Given the description of an element on the screen output the (x, y) to click on. 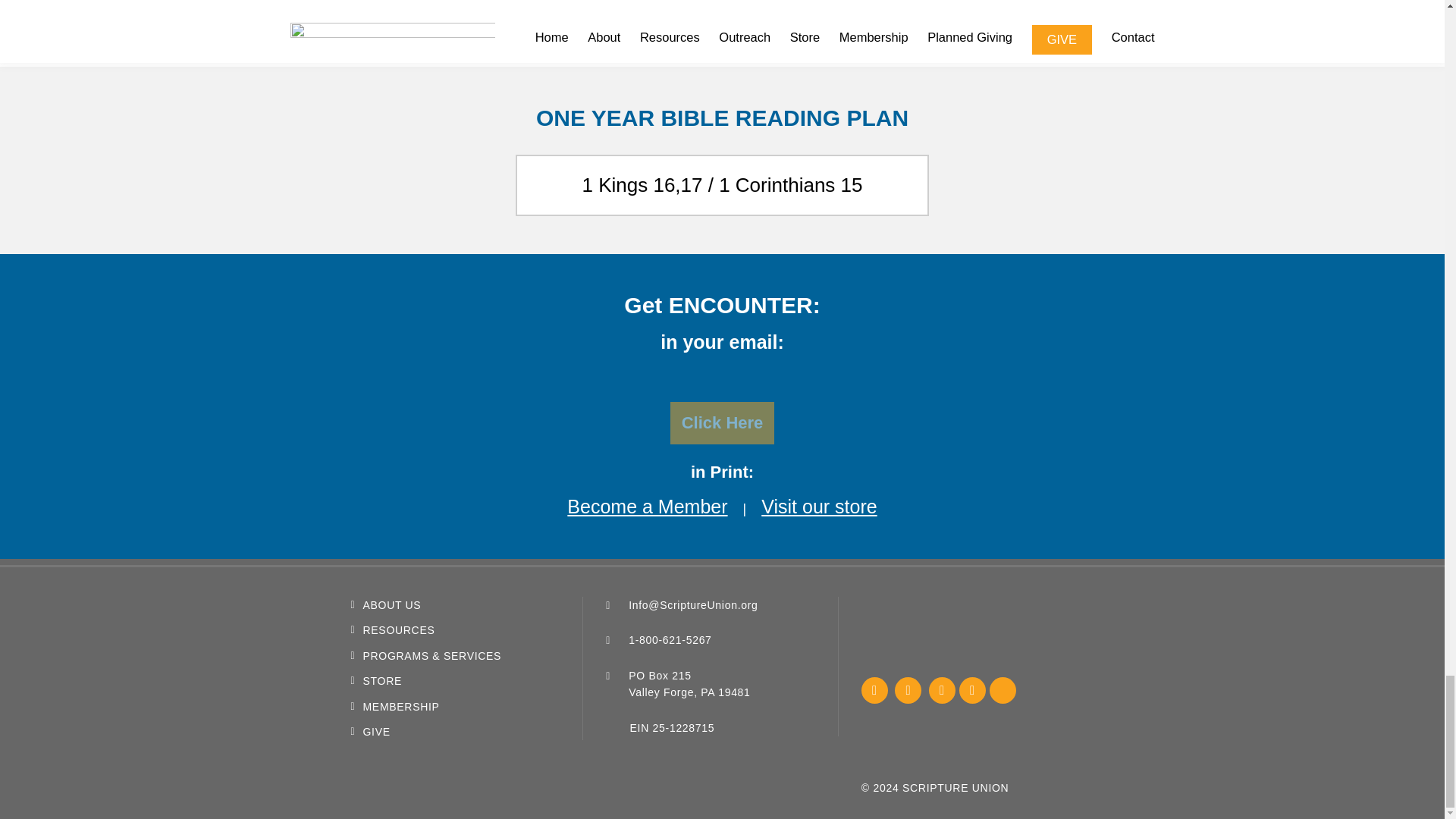
ECFA Logo (897, 633)
View all readings (721, 3)
